Given the description of an element on the screen output the (x, y) to click on. 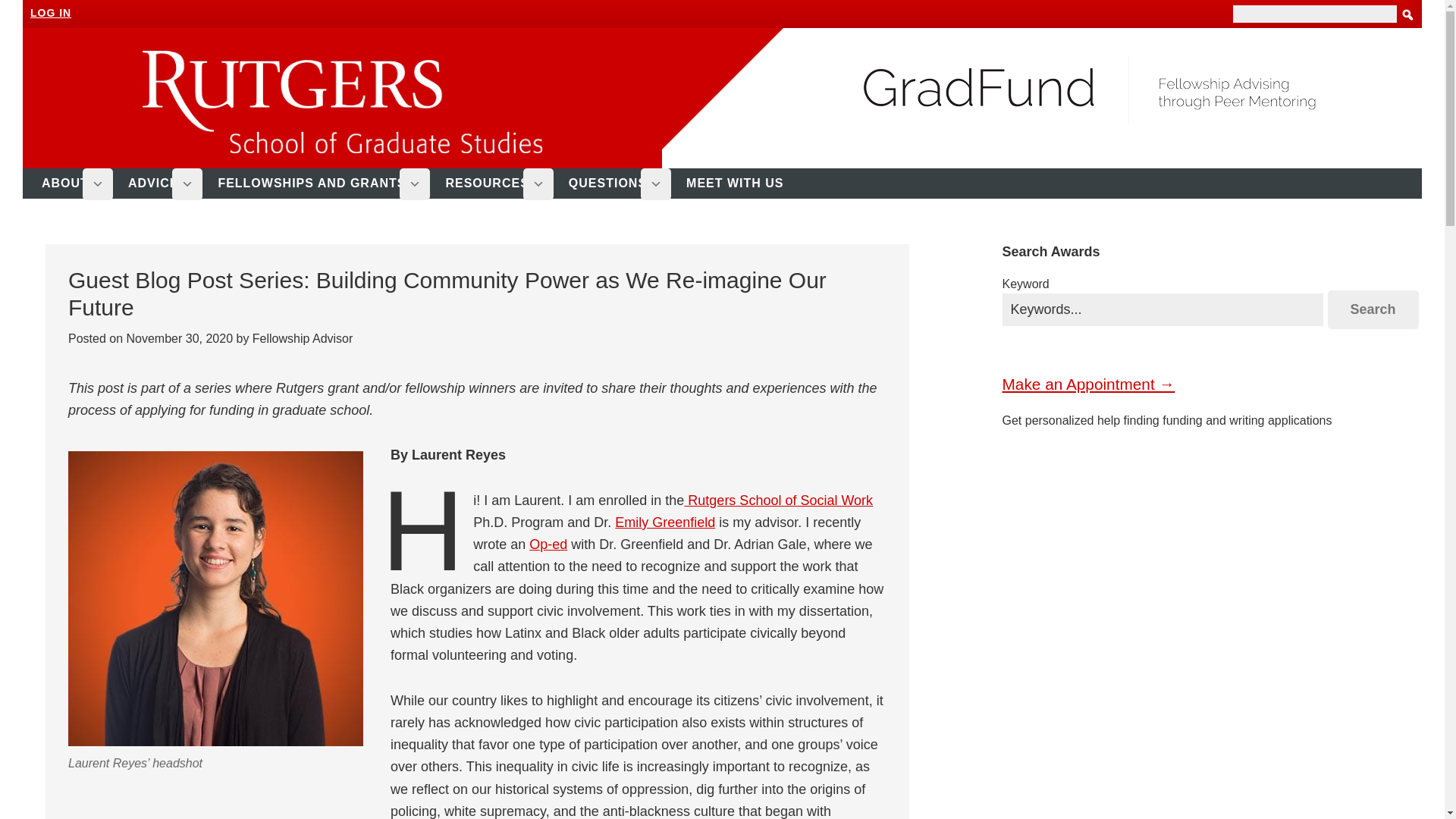
Submenu (413, 183)
MEET WITH US (741, 183)
LOG IN (50, 12)
Submenu (97, 183)
RESOURCES (493, 183)
QUESTIONS (614, 183)
ABOUT (71, 183)
Search (1372, 309)
Op-ed (548, 544)
Rutgers School of Social Work (778, 500)
Emily Greenfield (664, 522)
FELLOWSHIPS AND GRANTS (317, 183)
Submenu (655, 183)
Submenu (537, 183)
